Given the description of an element on the screen output the (x, y) to click on. 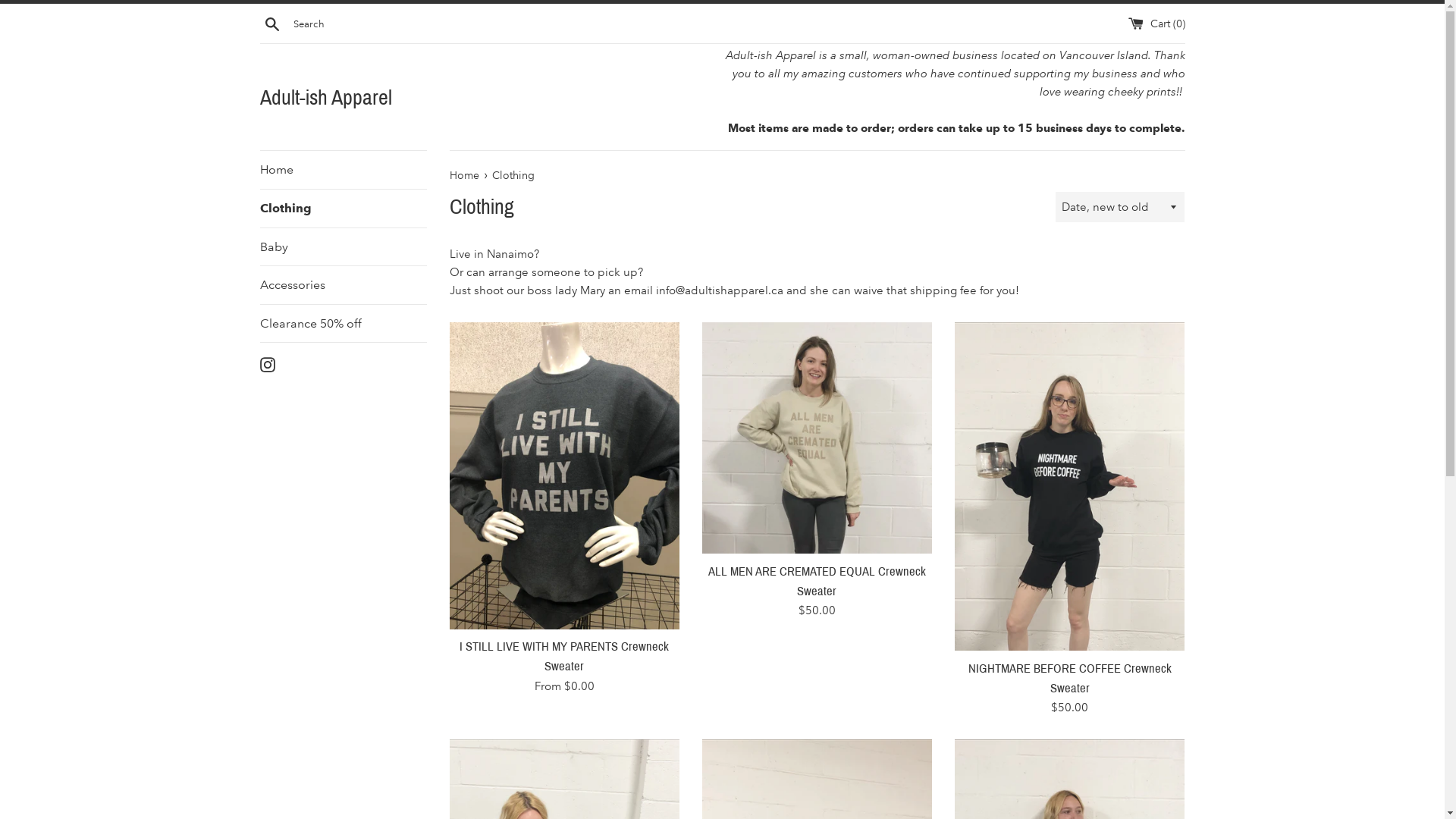
Search Element type: text (271, 23)
Accessories Element type: text (342, 285)
I STILL LIVE WITH MY PARENTS Crewneck Sweater Element type: hover (563, 475)
NIGHTMARE BEFORE COFFEE Crewneck Sweater Element type: hover (1069, 486)
Home Element type: text (464, 175)
ALL MEN ARE CREMATED EQUAL Crewneck Sweater Element type: hover (816, 437)
ALL MEN ARE CREMATED EQUAL Crewneck Sweater Element type: text (816, 580)
Cart (0) Element type: text (1156, 23)
NIGHTMARE BEFORE COFFEE Crewneck Sweater Element type: text (1069, 678)
Clothing Element type: text (342, 208)
Baby Element type: text (342, 247)
Instagram Element type: text (266, 363)
Home Element type: text (342, 169)
I STILL LIVE WITH MY PARENTS Crewneck Sweater Element type: text (563, 656)
Adult-ish Apparel Element type: text (490, 97)
Clearance 50% off Element type: text (342, 323)
